Given the description of an element on the screen output the (x, y) to click on. 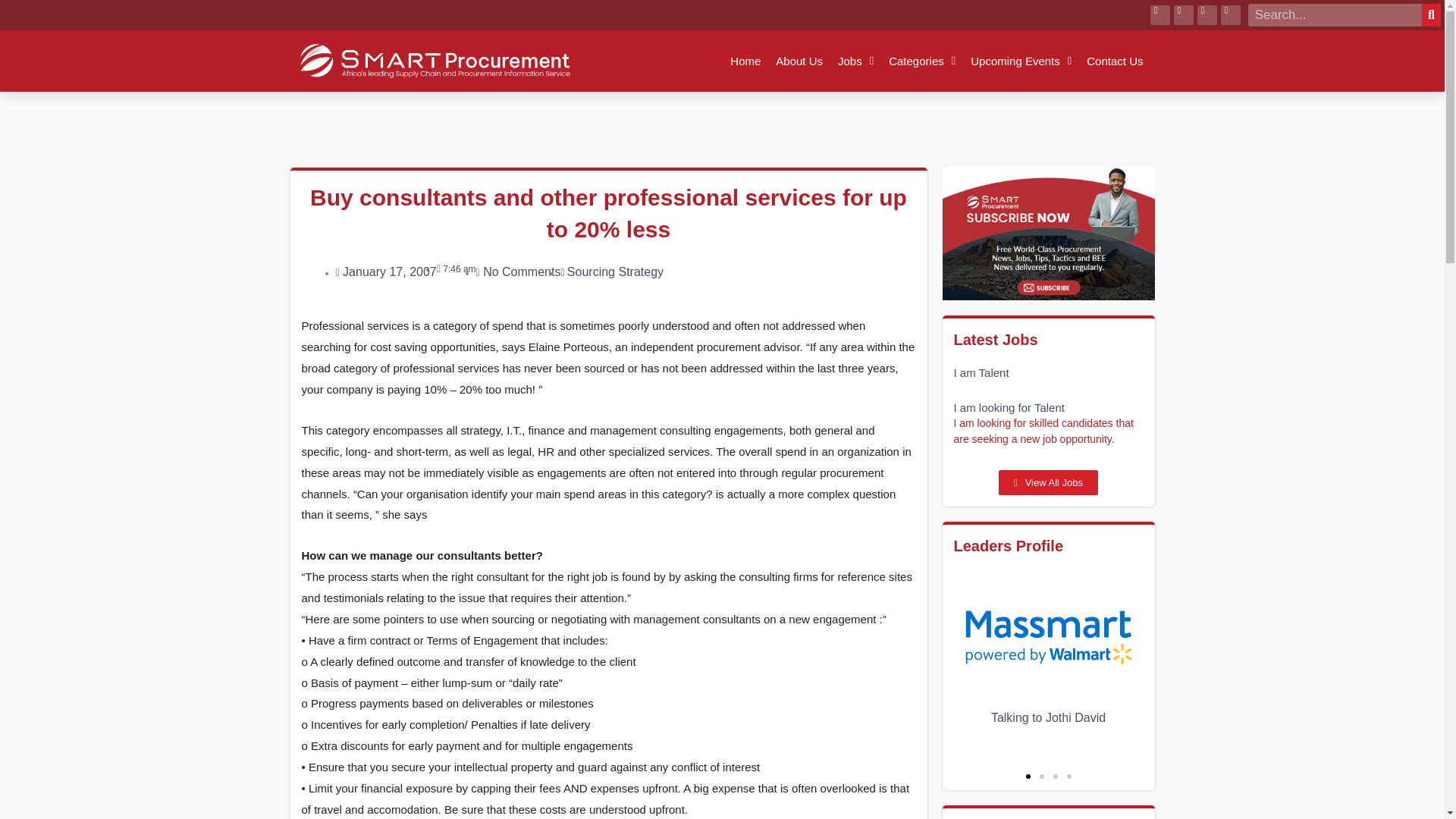
Linkedin (1183, 14)
Jobs (855, 61)
Twitter (1206, 14)
Home (745, 61)
About Us (799, 61)
Facebook (1160, 14)
Categories (922, 61)
Instagram (1230, 14)
